Given the description of an element on the screen output the (x, y) to click on. 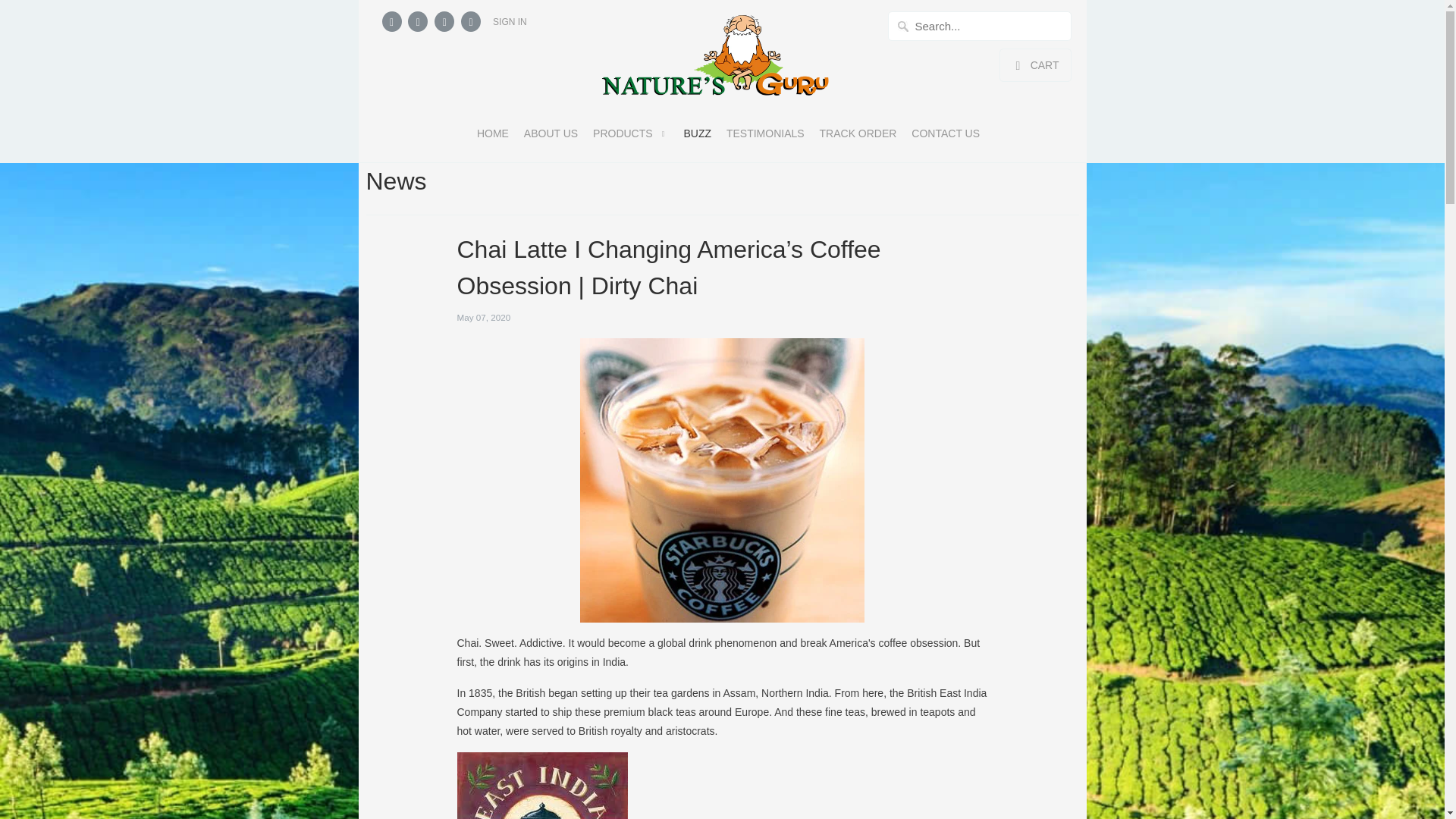
Email Nature's Guru (470, 21)
Nature's Guru on Twitter (391, 21)
Nature's Guru on Instagram (443, 21)
Nature's Guru (713, 64)
BUZZ (696, 137)
HOME (492, 137)
News (395, 180)
CART (1034, 64)
PRODUCTS (630, 137)
Nature's Guru on Facebook (417, 21)
TESTIMONIALS (765, 137)
TRACK ORDER (857, 137)
SIGN IN (510, 21)
Cart (1034, 64)
ABOUT US (551, 137)
